Given the description of an element on the screen output the (x, y) to click on. 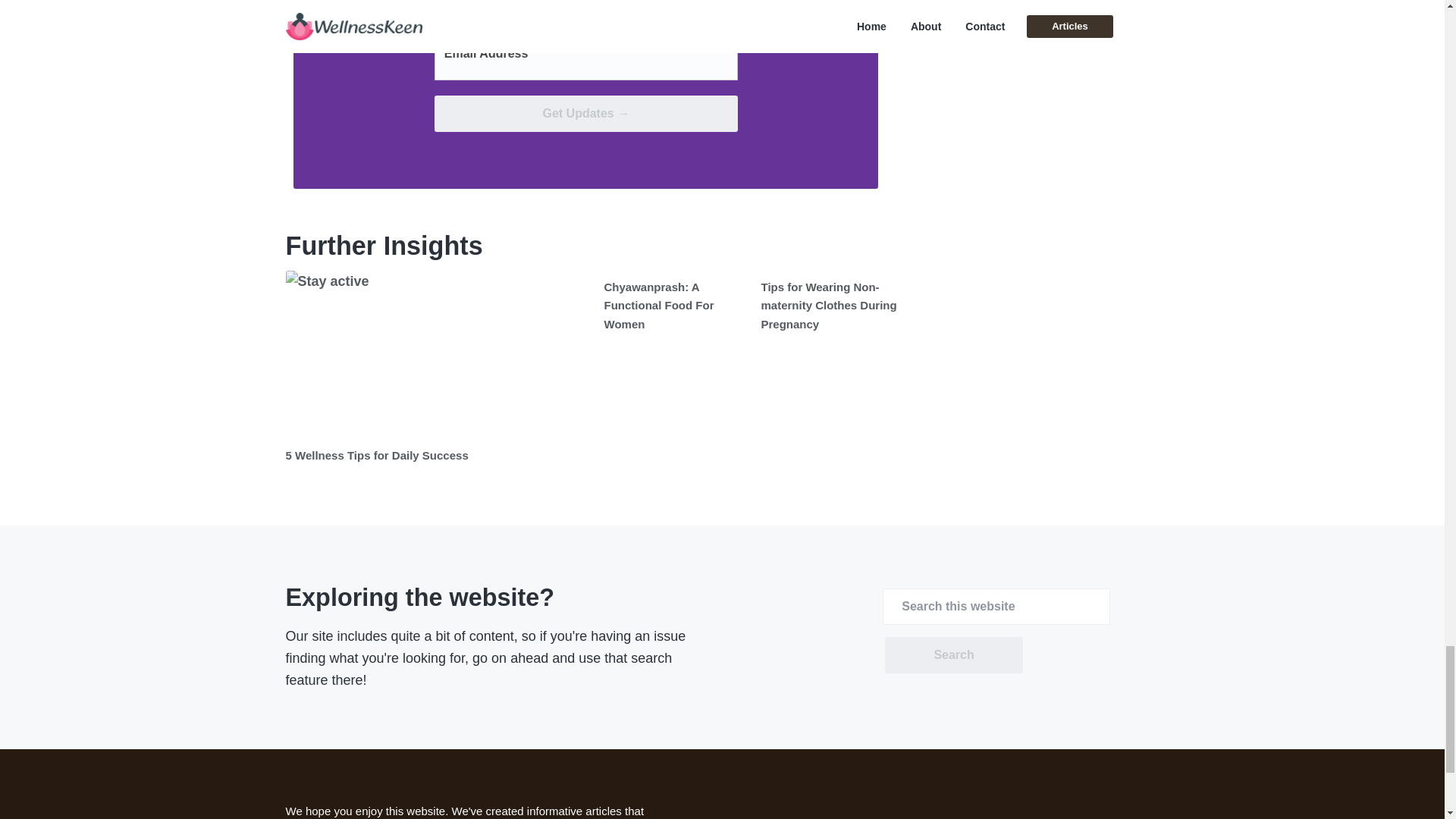
Permanent Link to 5 Wellness Tips for Daily Success (376, 454)
Search (953, 655)
Chyawanprash: A Functional Food For Women (658, 305)
Permanent Link to Chyawanprash: A Functional Food For Women (658, 305)
Tips for Wearing Non-maternity Clothes During Pregnancy (828, 305)
Permanent Link to 5 Wellness Tips for Daily Success (436, 354)
5 Wellness Tips for Daily Success (376, 454)
Search (953, 655)
Search (953, 655)
